Given the description of an element on the screen output the (x, y) to click on. 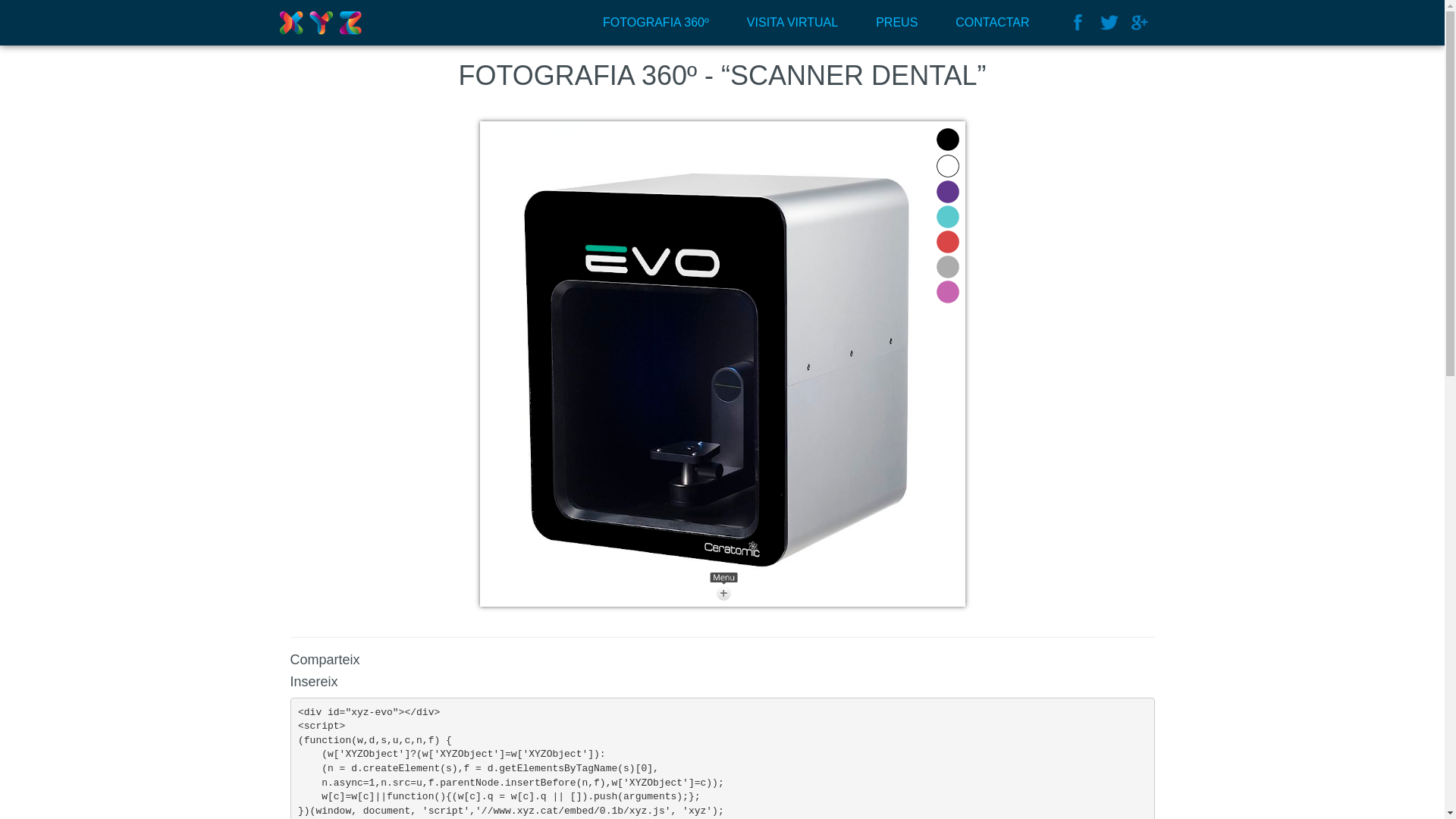
Twitter Element type: text (1108, 23)
Facebook Element type: text (1078, 23)
CONTACTAR Element type: text (992, 22)
PREUS Element type: text (896, 22)
Google+ Element type: text (1138, 23)
VISITA VIRTUAL Element type: text (792, 22)
